Given the description of an element on the screen output the (x, y) to click on. 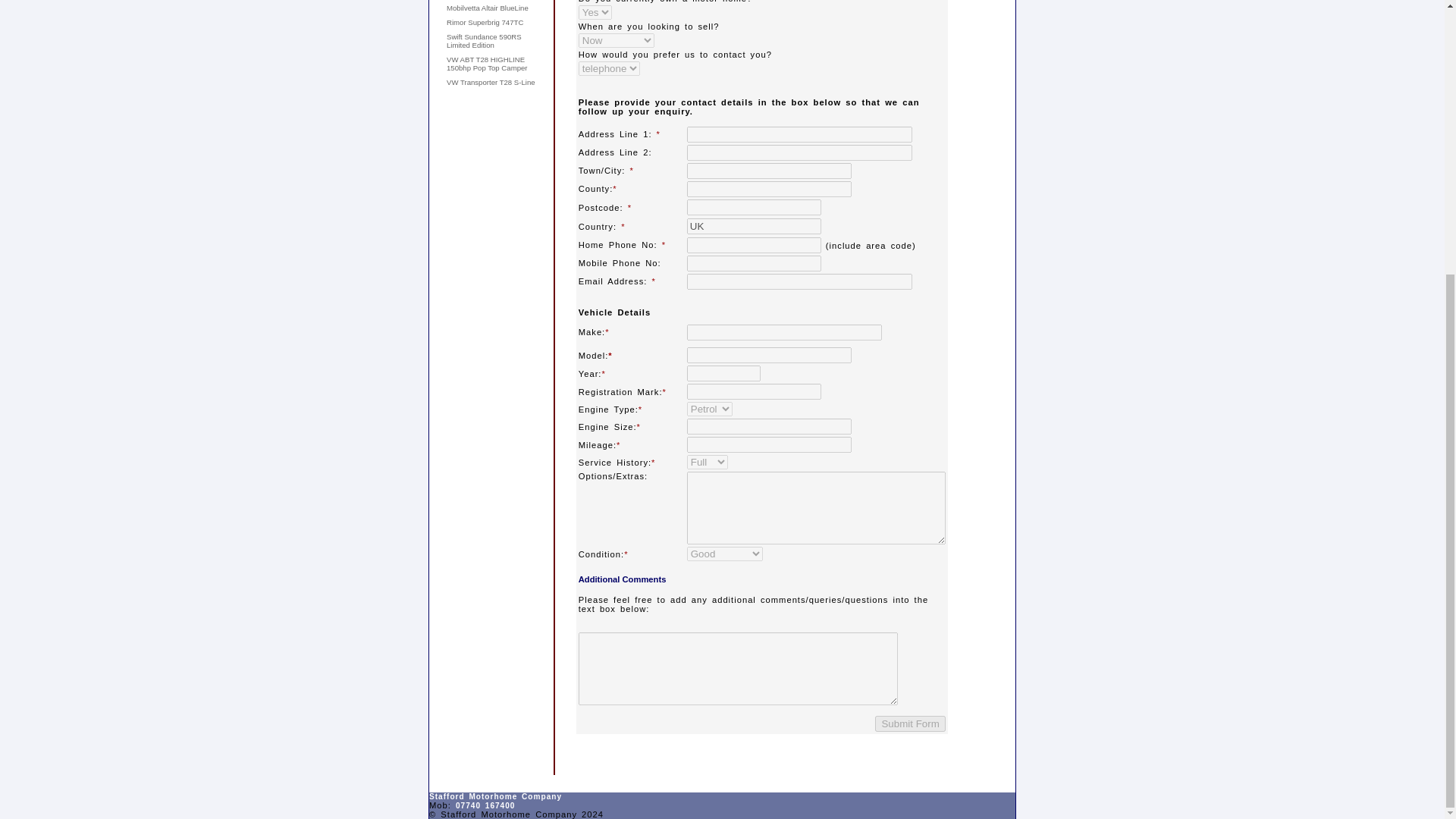
Submit Form (909, 723)
Rimor Superbrig 747TC (484, 22)
VW ABT T28 HIGHLINE 150bhp Pop Top Camper (486, 63)
Swift Sundance 590RS Limited Edition (483, 40)
Mobilvetta Altair BlueLine (487, 8)
UK (754, 226)
VW Transporter T28 S-Line (490, 81)
